Given the description of an element on the screen output the (x, y) to click on. 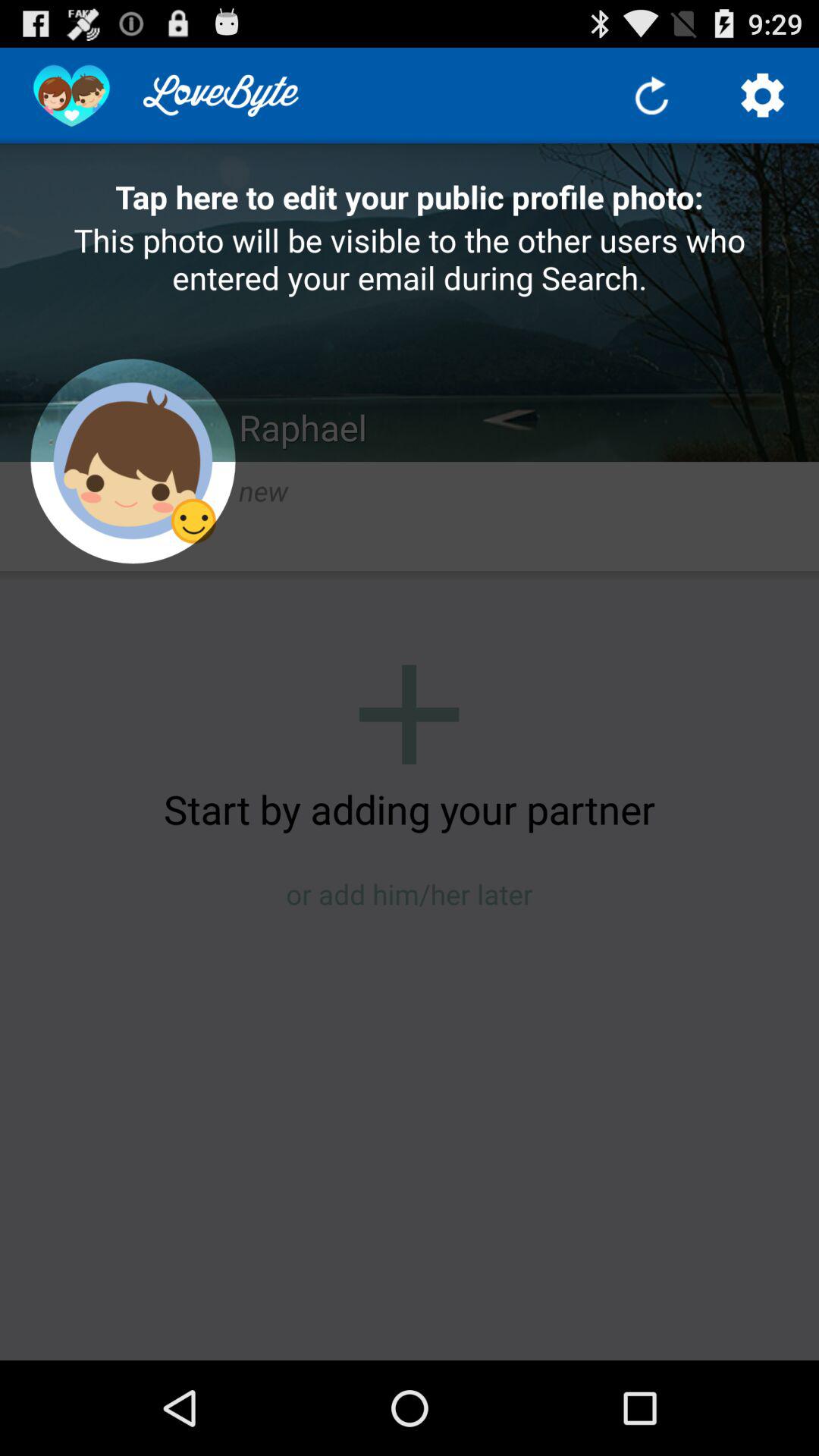
change profile icon (132, 460)
